Given the description of an element on the screen output the (x, y) to click on. 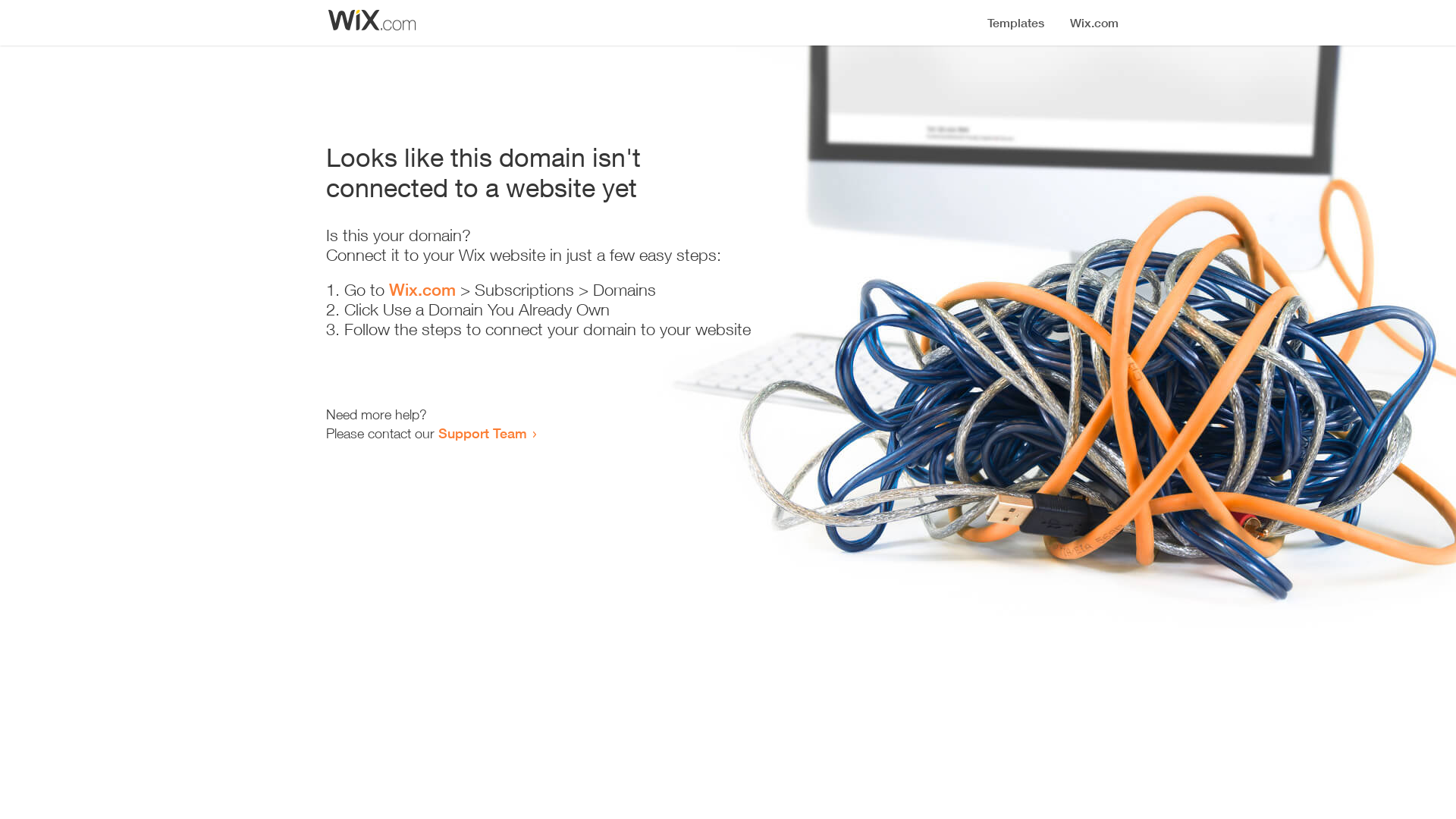
Wix.com Element type: text (422, 289)
Support Team Element type: text (482, 432)
